Given the description of an element on the screen output the (x, y) to click on. 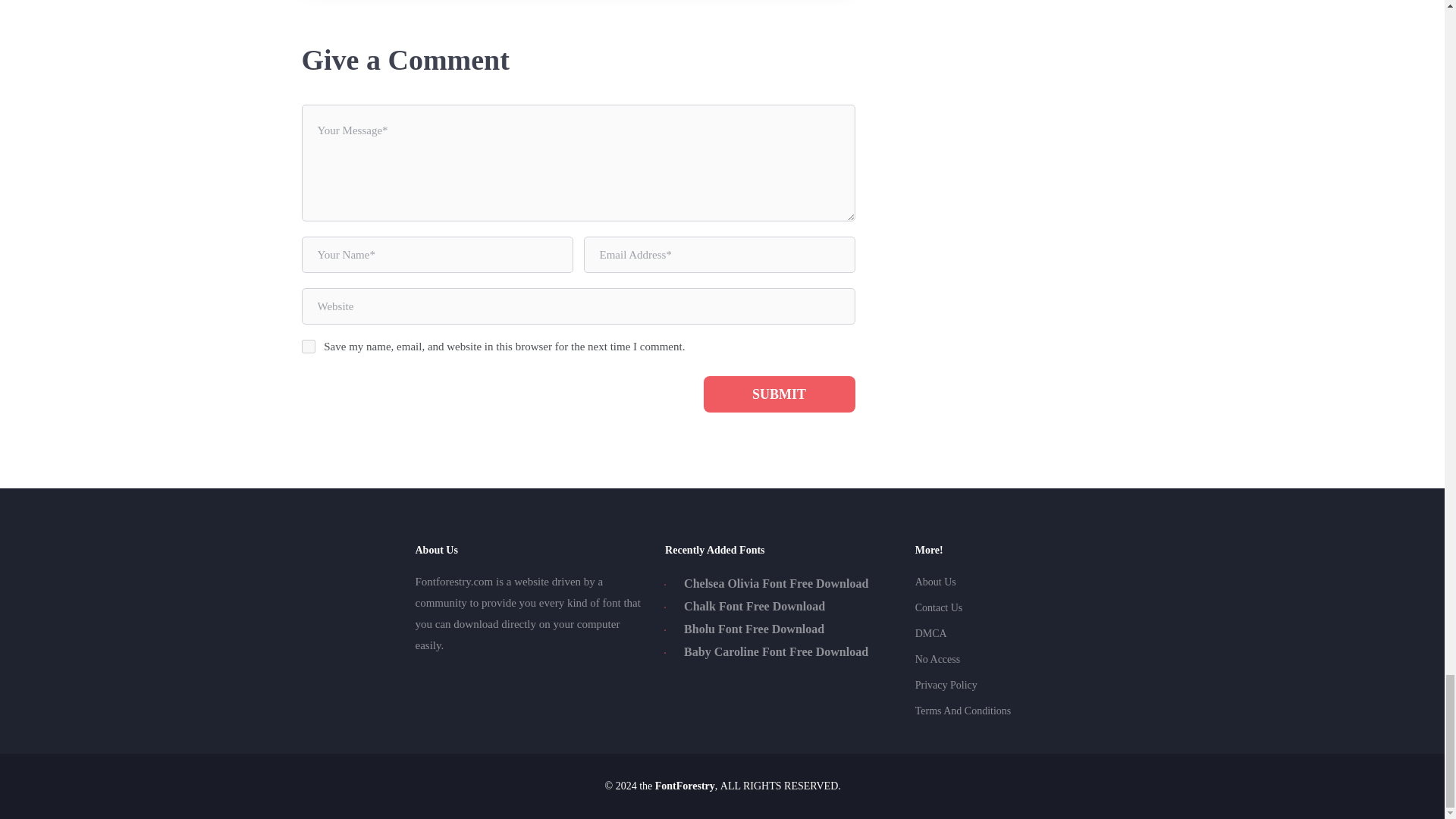
Submit (779, 393)
yes (308, 345)
Submit (779, 393)
